Given the description of an element on the screen output the (x, y) to click on. 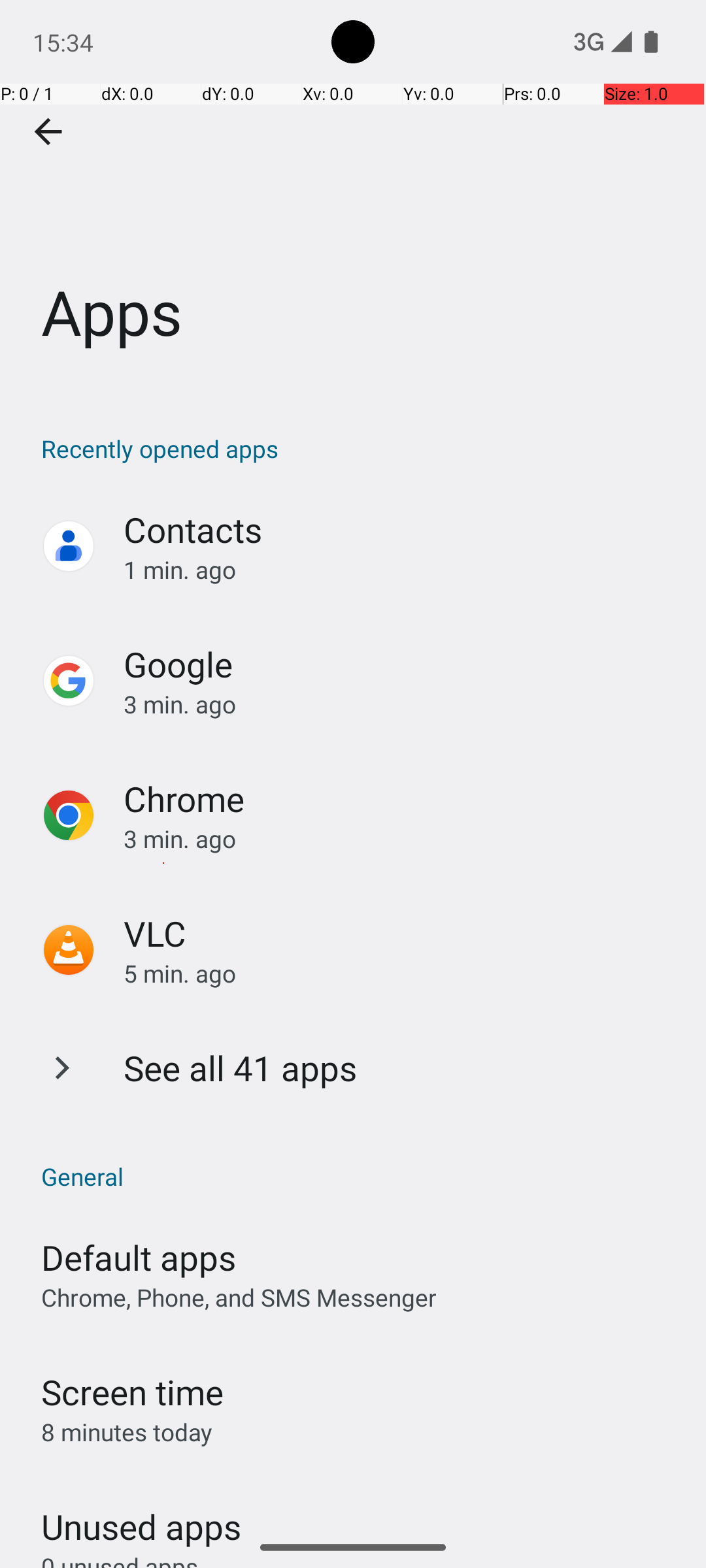
5 min. ago Element type: android.widget.TextView (400, 972)
8 minutes today Element type: android.widget.TextView (127, 1431)
